Given the description of an element on the screen output the (x, y) to click on. 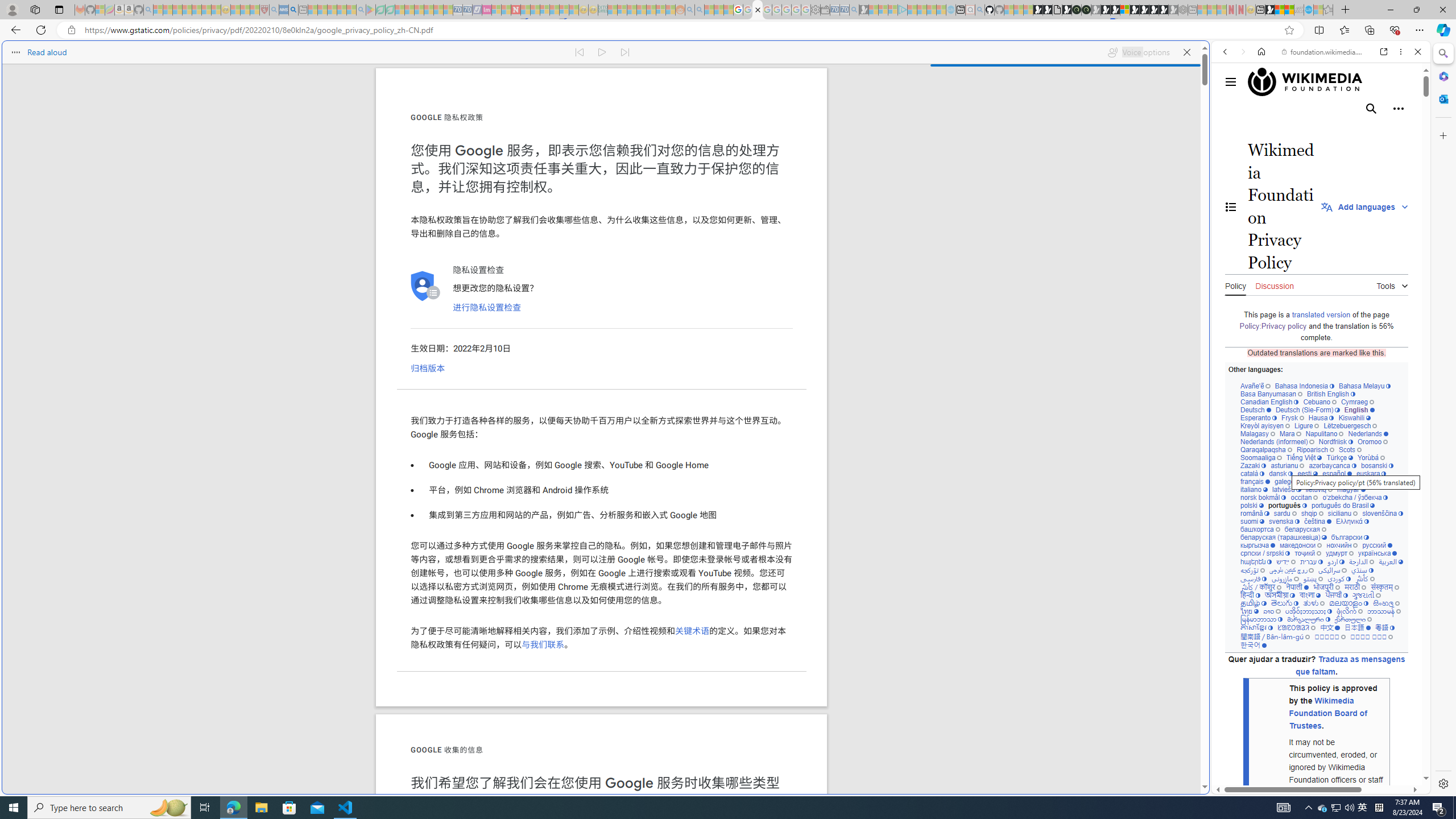
Oromoo (1372, 441)
Search Filter, IMAGES (1262, 129)
asturianu (1287, 465)
Bahasa Indonesia (1303, 385)
Search or enter web address (922, 108)
Nordfriisk (1334, 441)
